Given the description of an element on the screen output the (x, y) to click on. 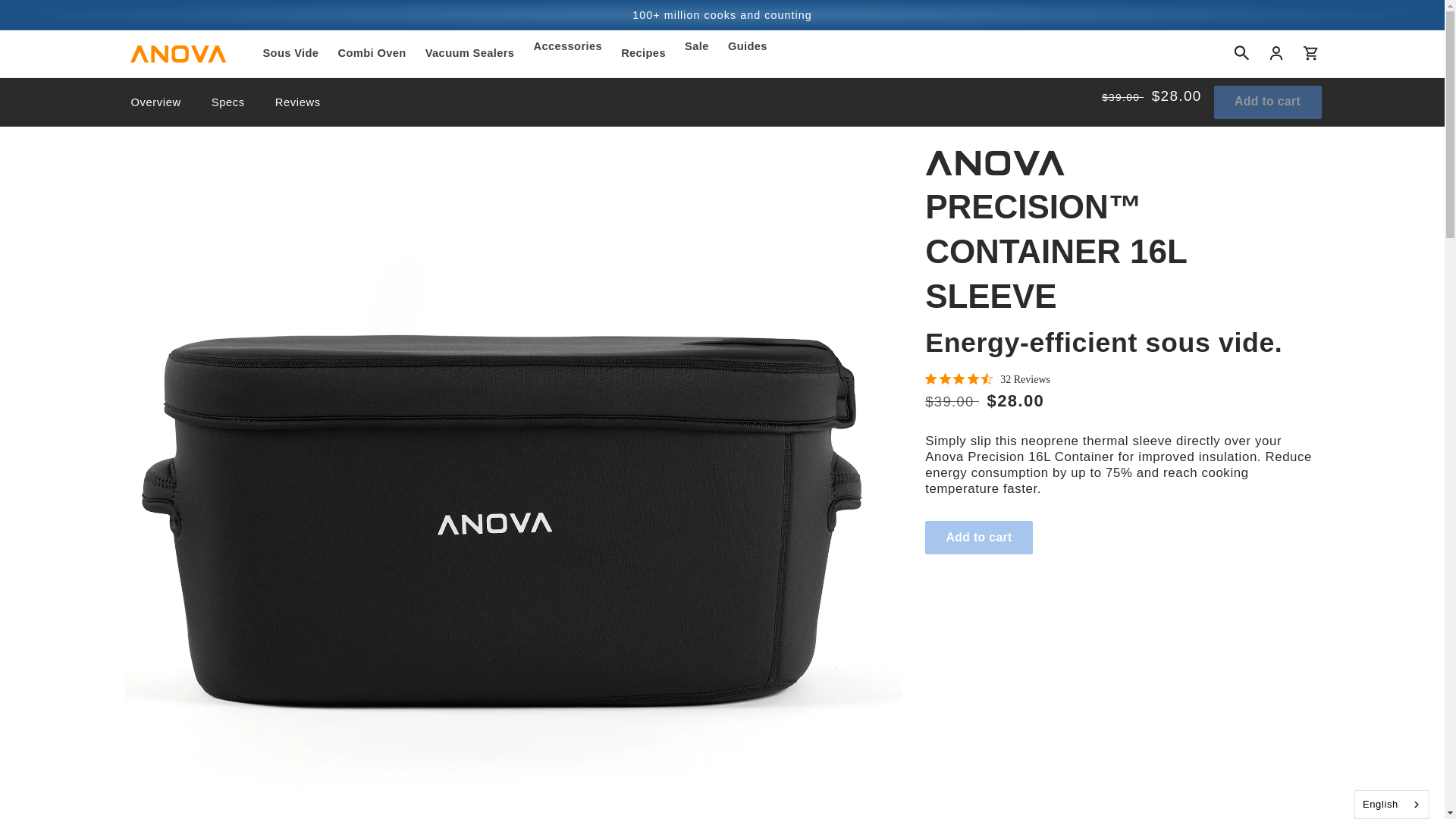
Skip to content (48, 14)
Sous Vide (291, 53)
32 Reviews (986, 379)
